Given the description of an element on the screen output the (x, y) to click on. 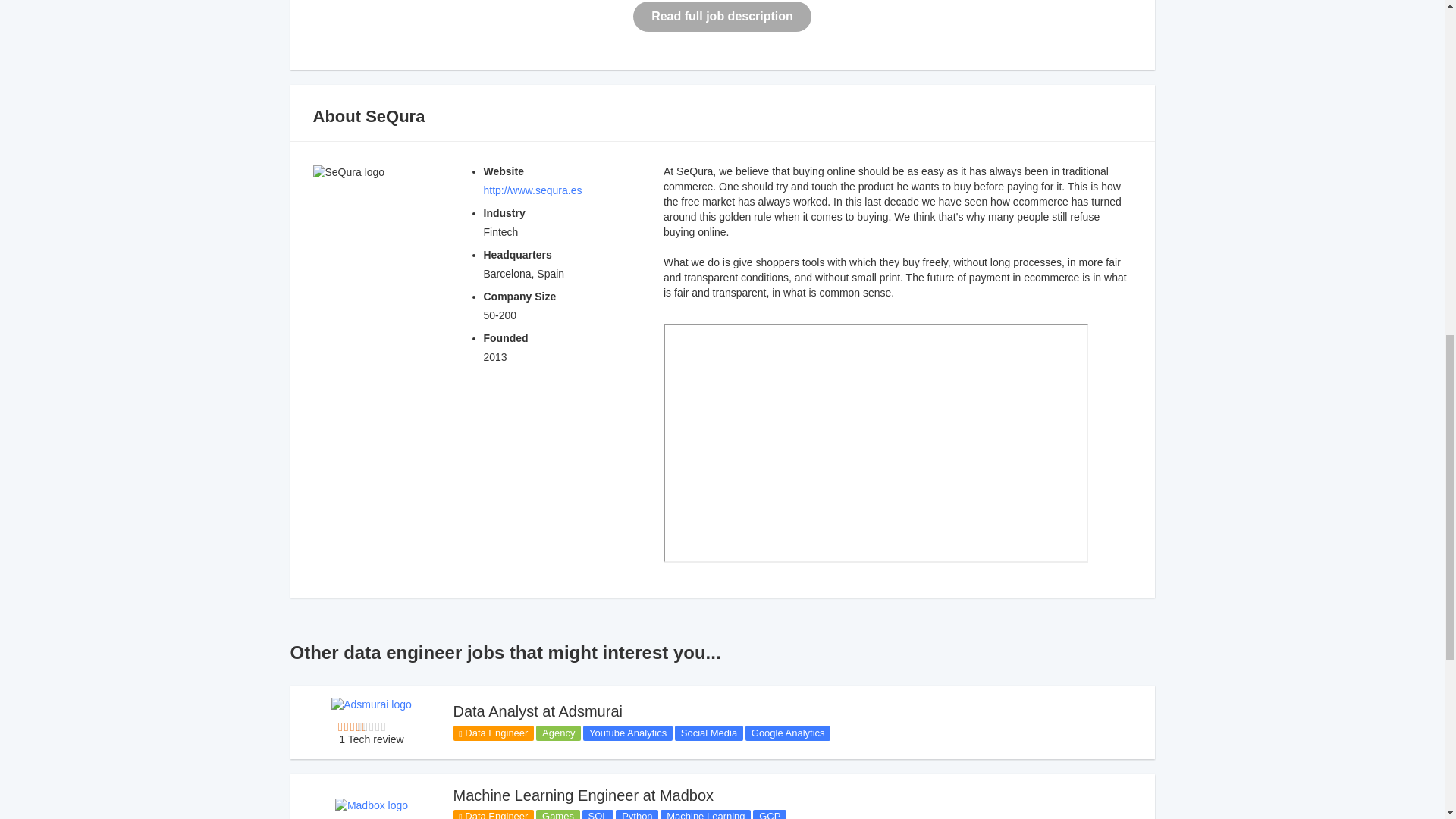
SeQura (395, 116)
Browse Youtube Analytics (627, 732)
Browse Agency Industry jobs (557, 732)
View Adsmurai company details and its job offerings (371, 703)
Read full job description (721, 16)
Browse Social Media (708, 732)
Browse Data Engineer jobs (493, 732)
Browse Google Analytics (787, 732)
